Given the description of an element on the screen output the (x, y) to click on. 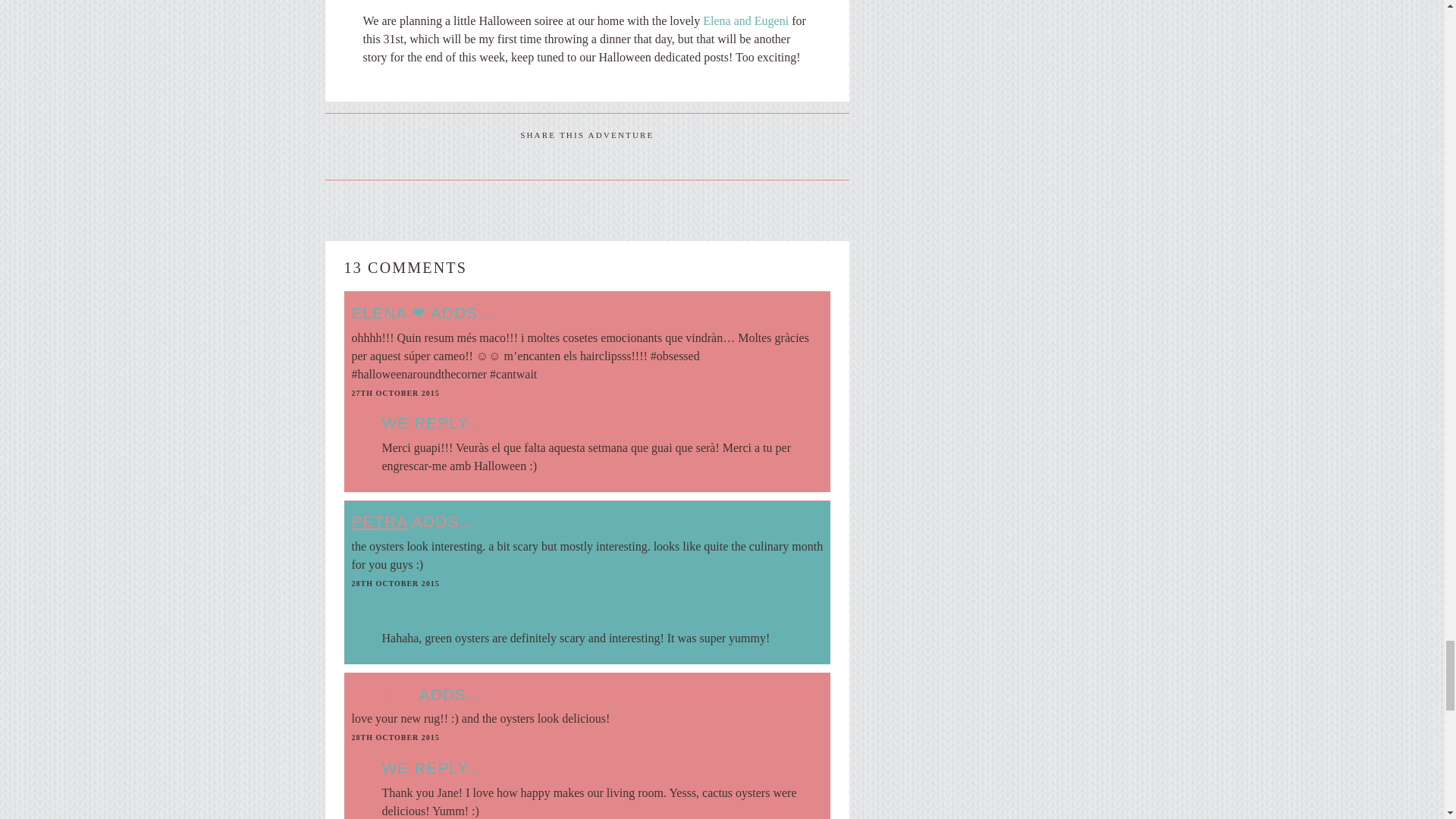
PETRA (379, 520)
JANE Y. (383, 693)
Elena and Eugeni (746, 20)
